Given the description of an element on the screen output the (x, y) to click on. 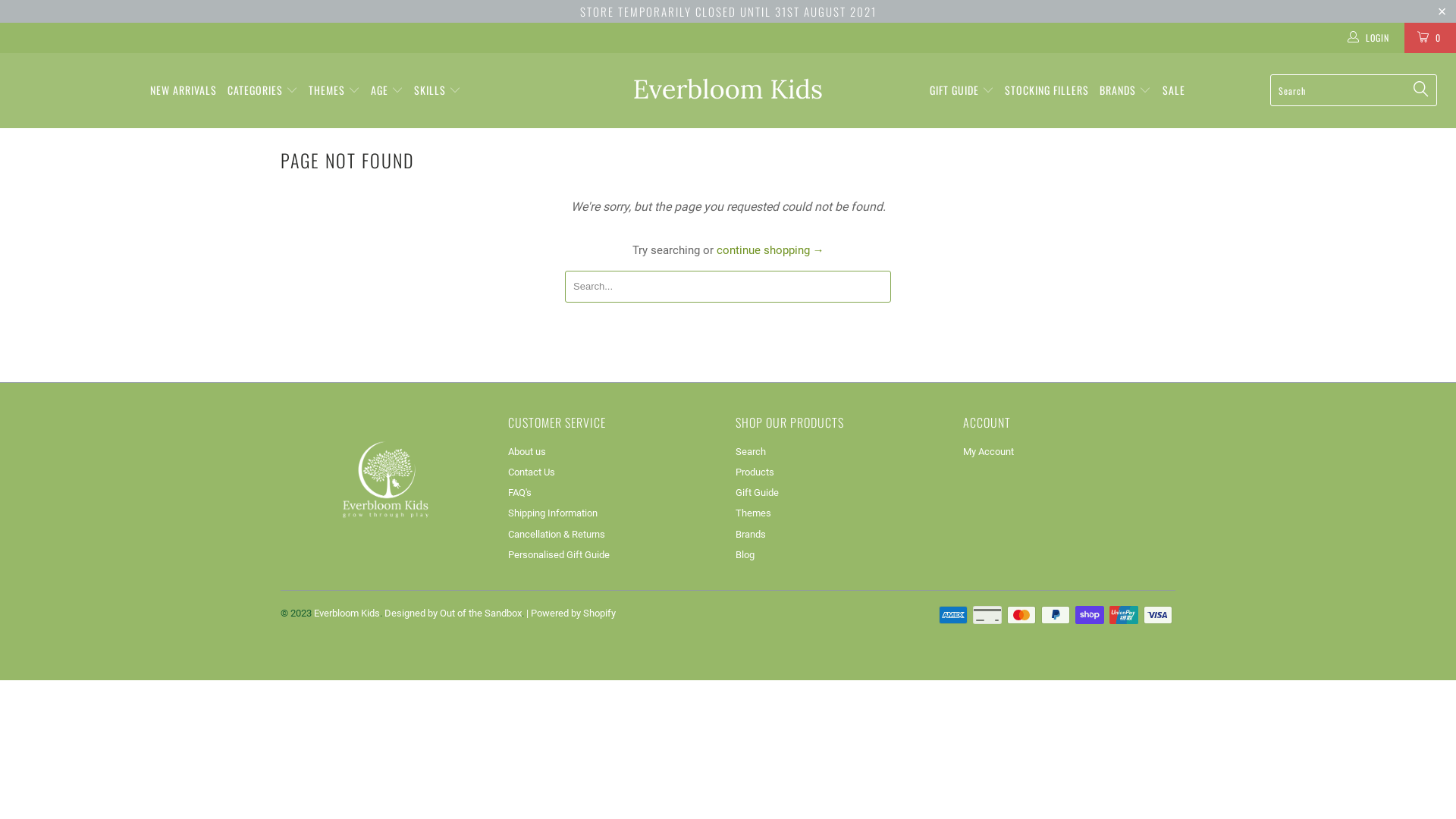
SALE Element type: text (1172, 90)
Shipping Information Element type: text (552, 512)
Blog Element type: text (744, 554)
GIFT GUIDE Element type: text (961, 90)
About us Element type: text (527, 451)
| Powered by Shopify Element type: text (570, 612)
AGE Element type: text (386, 90)
Gift Guide Element type: text (756, 492)
Everbloom Kids Element type: hover (727, 88)
Cancellation & Returns Element type: text (556, 533)
Search Element type: text (750, 451)
STOCKING FILLERS Element type: text (1046, 90)
SKILLS Element type: text (437, 90)
NEW ARRIVALS Element type: text (183, 90)
Contact Us Element type: text (531, 471)
Brands Element type: text (750, 533)
My Account Element type: text (988, 451)
LOGIN Element type: text (1368, 37)
CATEGORIES Element type: text (262, 90)
Themes Element type: text (753, 512)
Products Element type: text (754, 471)
THEMES Element type: text (334, 90)
BRANDS Element type: text (1125, 90)
Personalised Gift Guide Element type: text (558, 554)
Everbloom Kids Element type: text (346, 612)
FAQ's Element type: text (519, 492)
Designed by Out of the Sandbox Element type: text (452, 612)
